Given the description of an element on the screen output the (x, y) to click on. 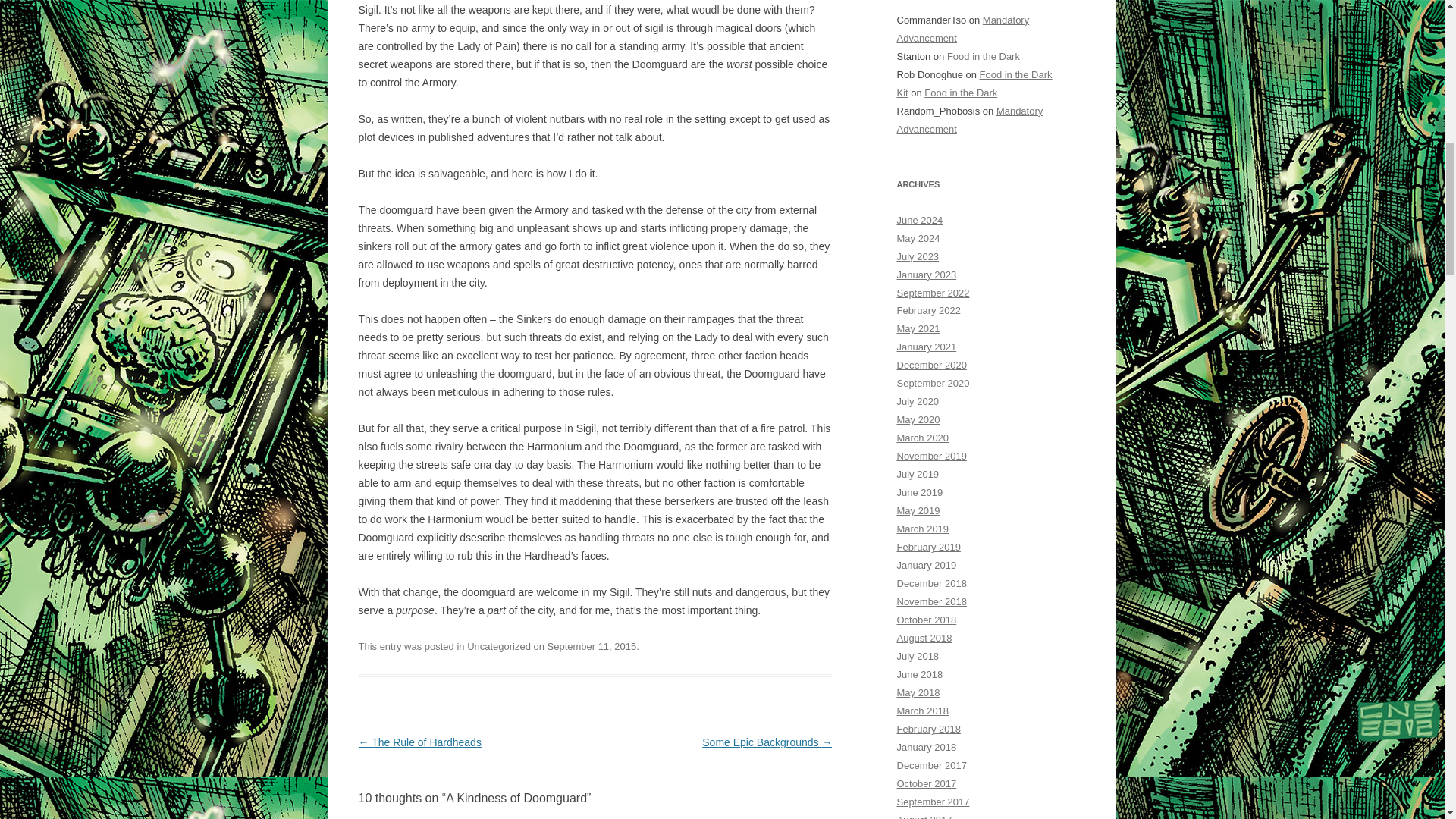
Uncategorized (499, 645)
September 11, 2015 (592, 645)
4:38 pm (592, 645)
